Given the description of an element on the screen output the (x, y) to click on. 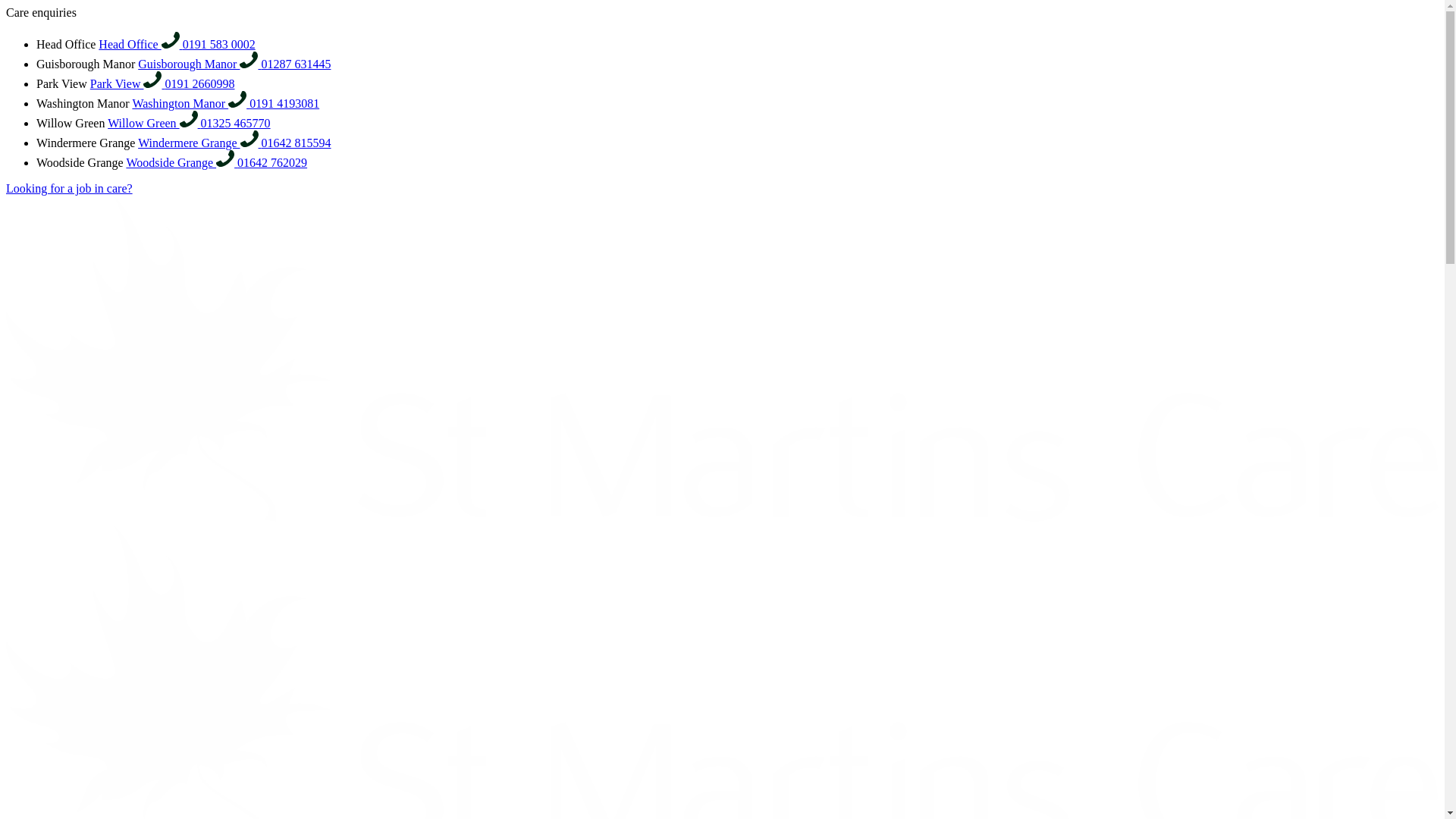
Telephone (248, 59)
Telephone (224, 158)
Telephone Windermere Grange on 01642 815594 (199, 142)
Telephone Guisborough Manor on 01287 631445 (199, 63)
Telephone Windermere Grange on 01642 815594 (296, 142)
Washington Manor Telephone (190, 103)
Telephone Woodside Grange on 01642 762029 (181, 162)
Telephone (170, 39)
Telephone Park View on 0191 2660998 (127, 83)
Telephone Washington Manor on 0191 4193081 (190, 103)
Telephone (249, 138)
0191 2660998 (199, 83)
Telephone Willow Green on 01325 465770 (153, 123)
01325 465770 (235, 123)
Guisborough Manor Telephone (199, 63)
